Given the description of an element on the screen output the (x, y) to click on. 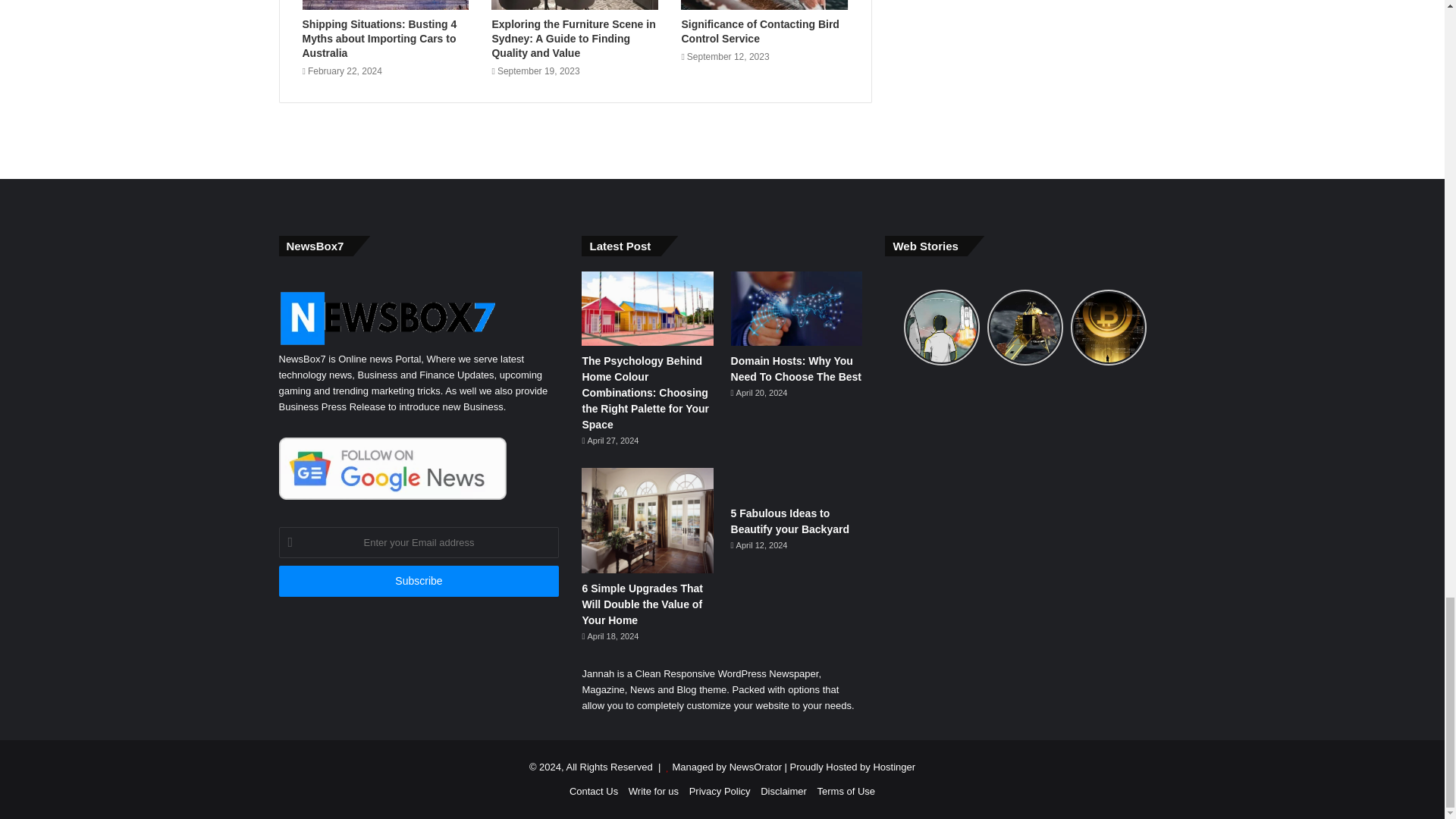
Subscribe (419, 581)
